Given the description of an element on the screen output the (x, y) to click on. 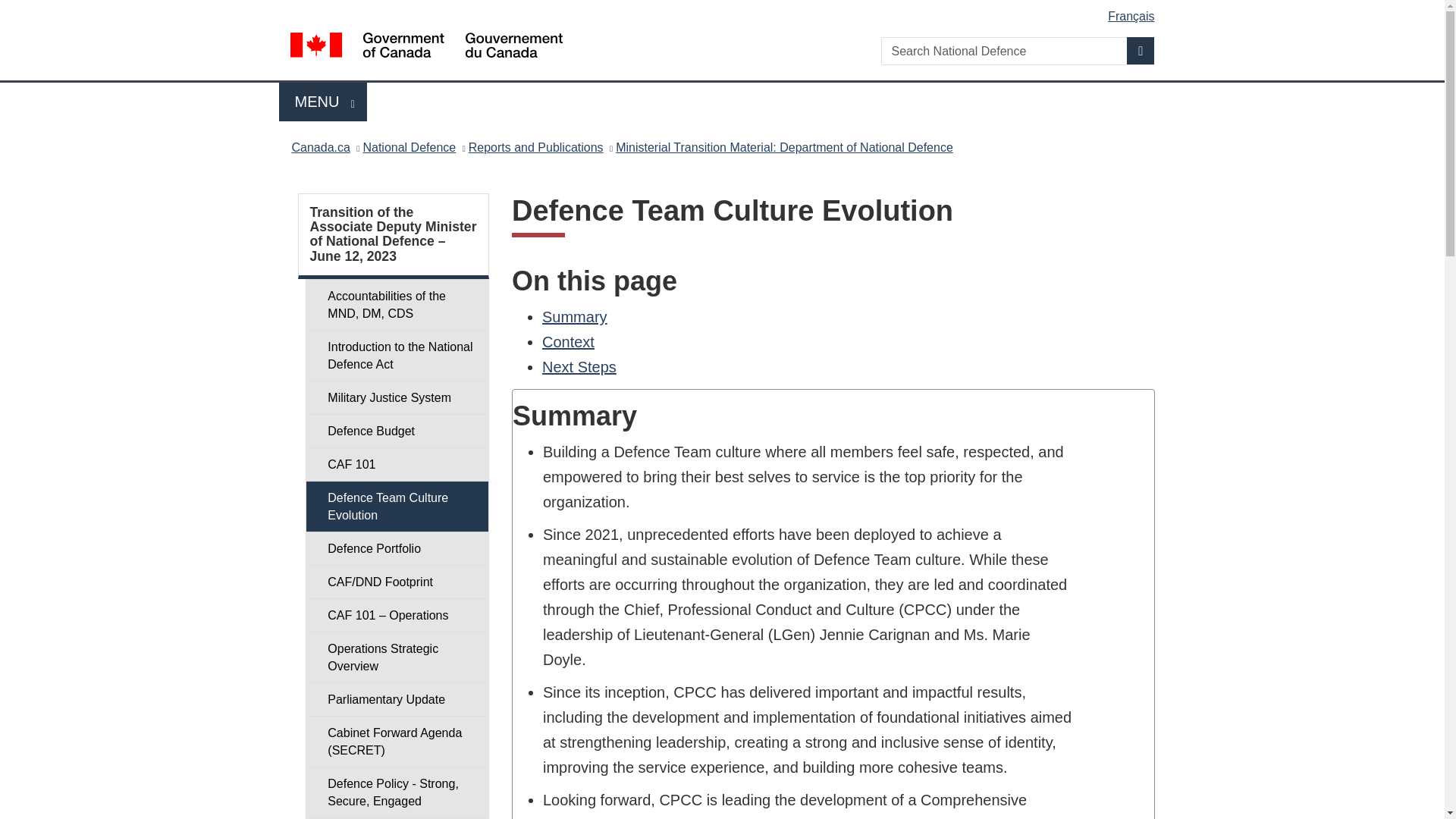
Military Justice System (396, 397)
Defence Team Culture Evolution (396, 506)
Defence Portfolio (396, 548)
Introduction to the National Defence Act (396, 355)
CAF 101 (396, 464)
Canada.ca (320, 147)
Accountabilities of the MND, DM, CDS (322, 101)
Skip to main content (396, 304)
Search (725, 11)
